Given the description of an element on the screen output the (x, y) to click on. 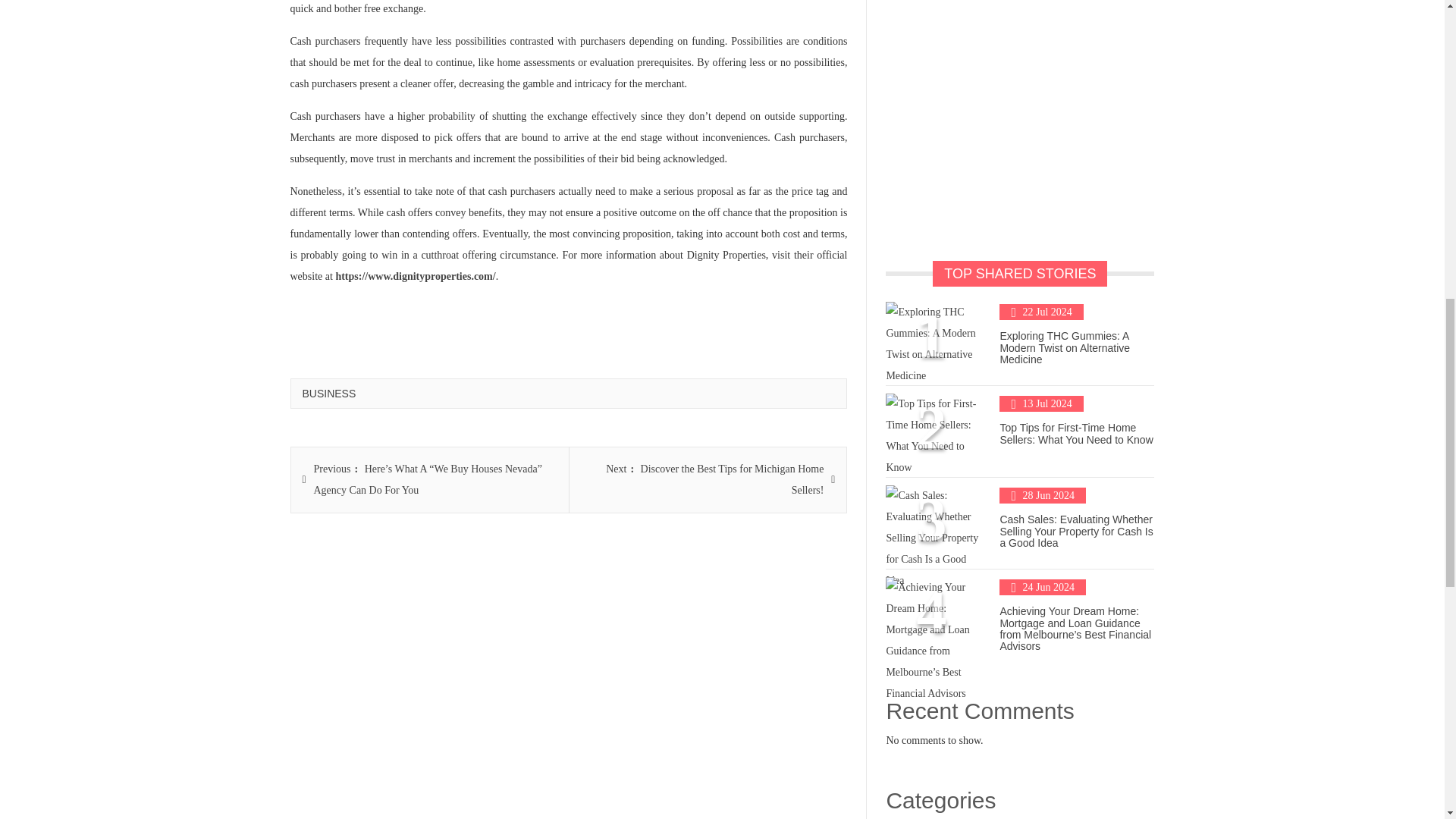
Top Tips for First-Time Home Sellers: What You Need to Know (1075, 433)
BUSINESS (328, 393)
